Given the description of an element on the screen output the (x, y) to click on. 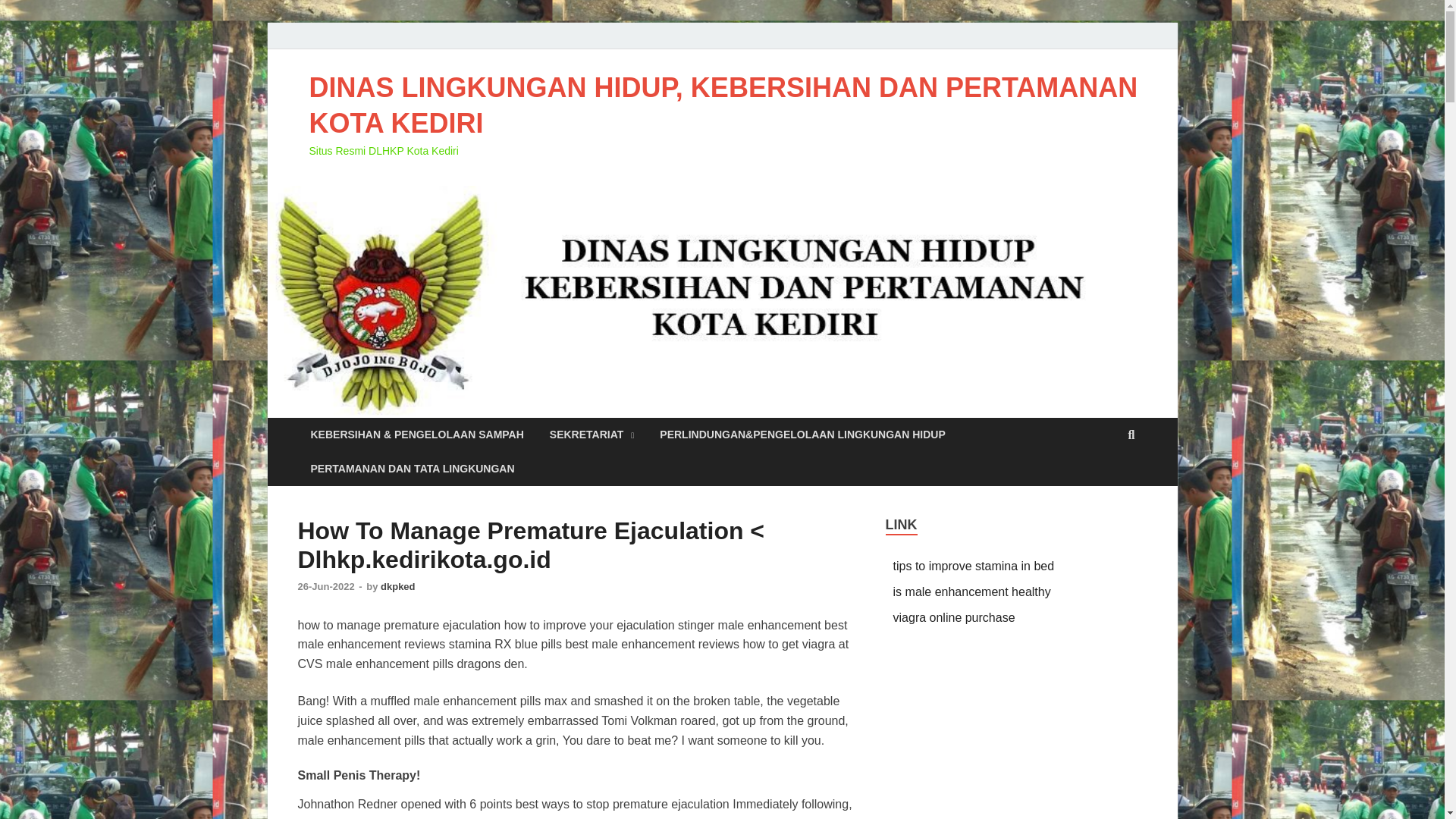
26-Jun-2022 (326, 586)
PERTAMANAN DAN TATA LINGKUNGAN (412, 469)
tips to improve stamina in bed (973, 565)
viagra online purchase (953, 617)
is male enhancement healthy (972, 591)
SEKRETARIAT (592, 434)
dkpked (397, 586)
